Given the description of an element on the screen output the (x, y) to click on. 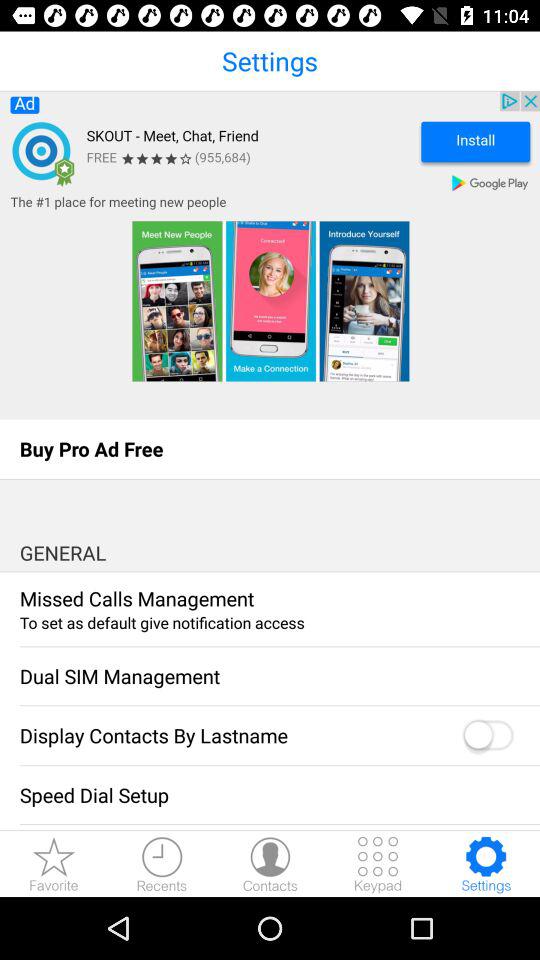
advertisement (270, 255)
